Given the description of an element on the screen output the (x, y) to click on. 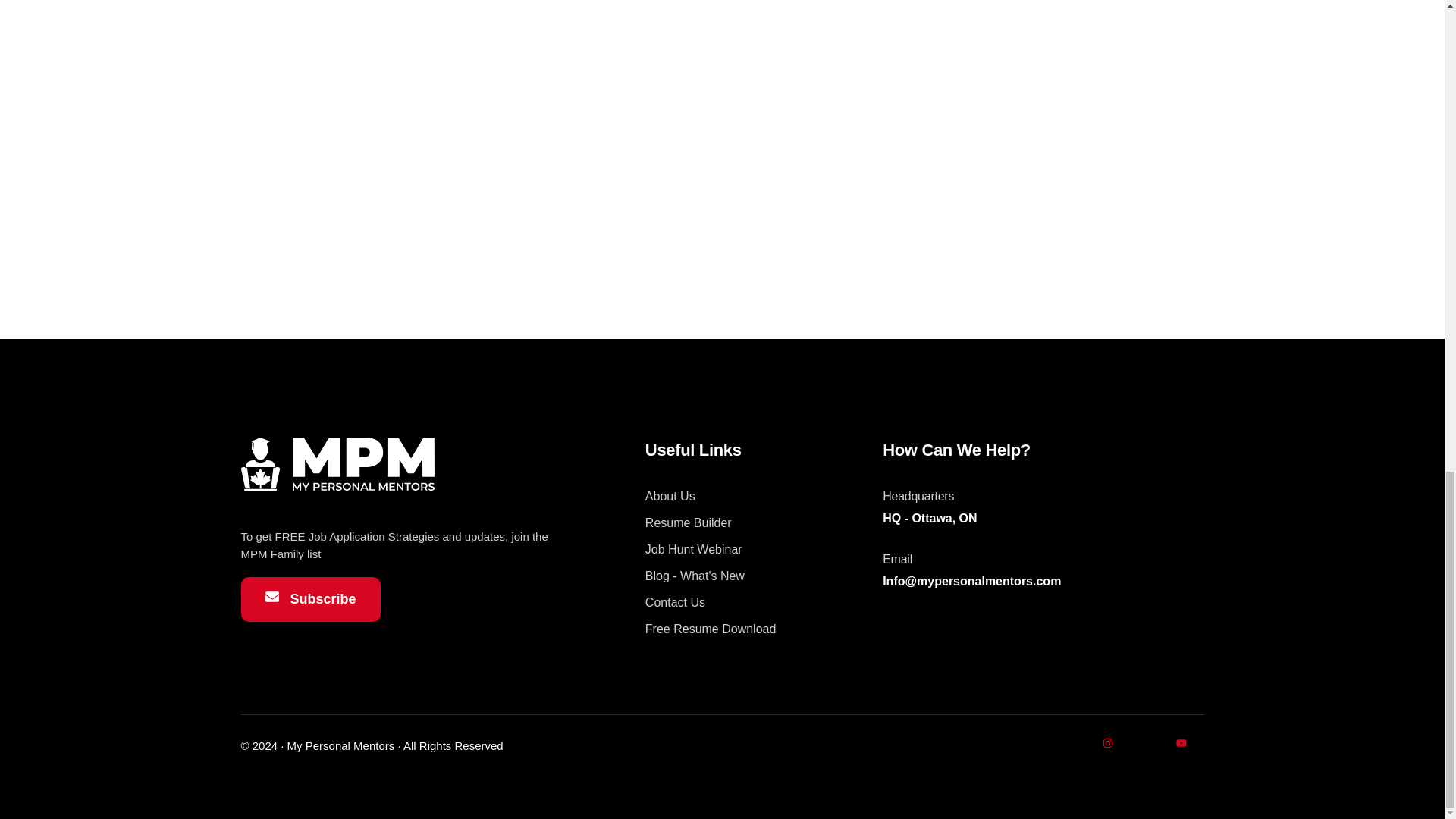
About Us (763, 496)
Resume Builder (763, 523)
Subscribe (310, 599)
Job Hunt Webinar (763, 549)
Blog - What's New (763, 576)
